Given the description of an element on the screen output the (x, y) to click on. 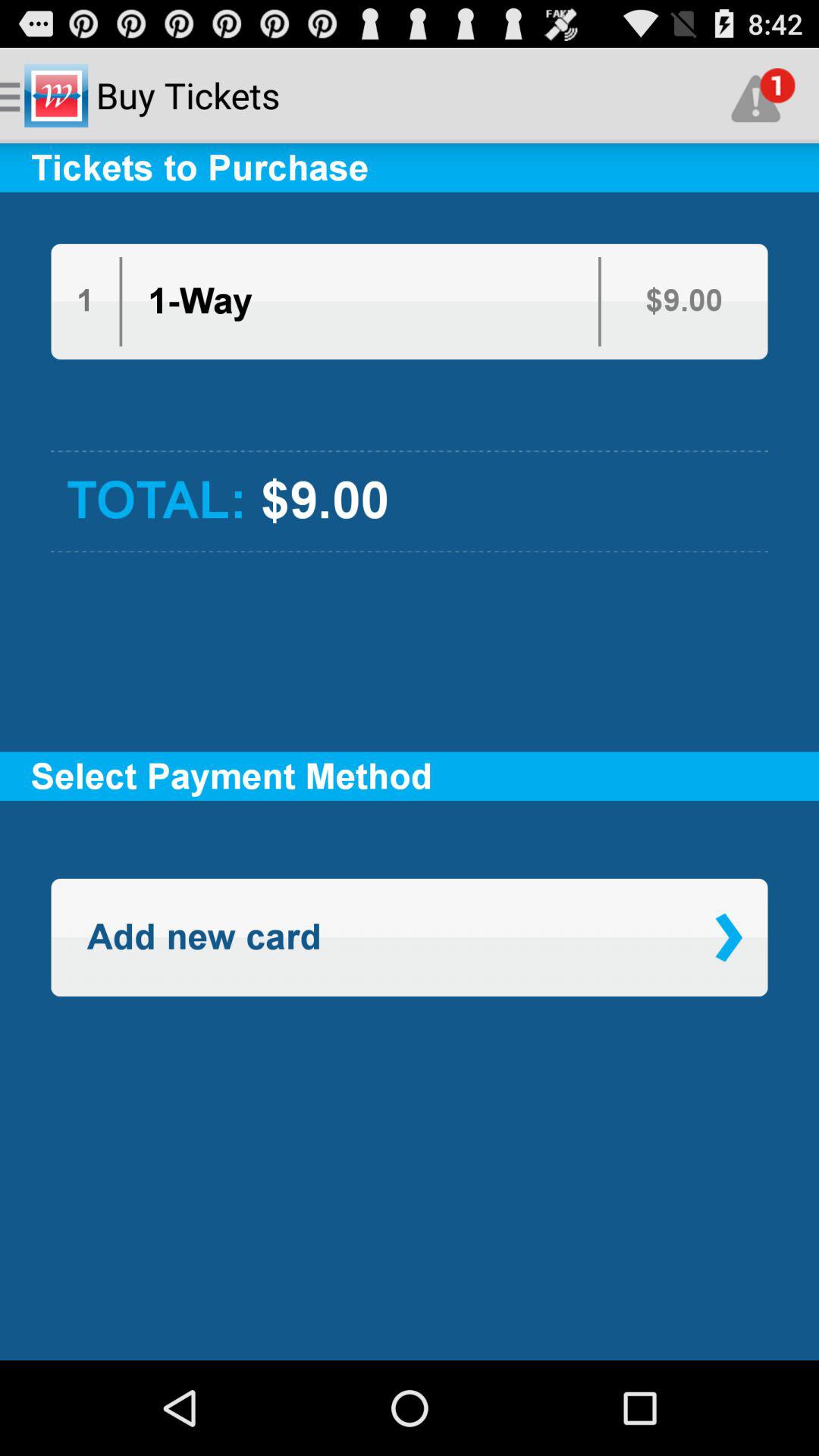
click the icon on the left (204, 937)
